Given the description of an element on the screen output the (x, y) to click on. 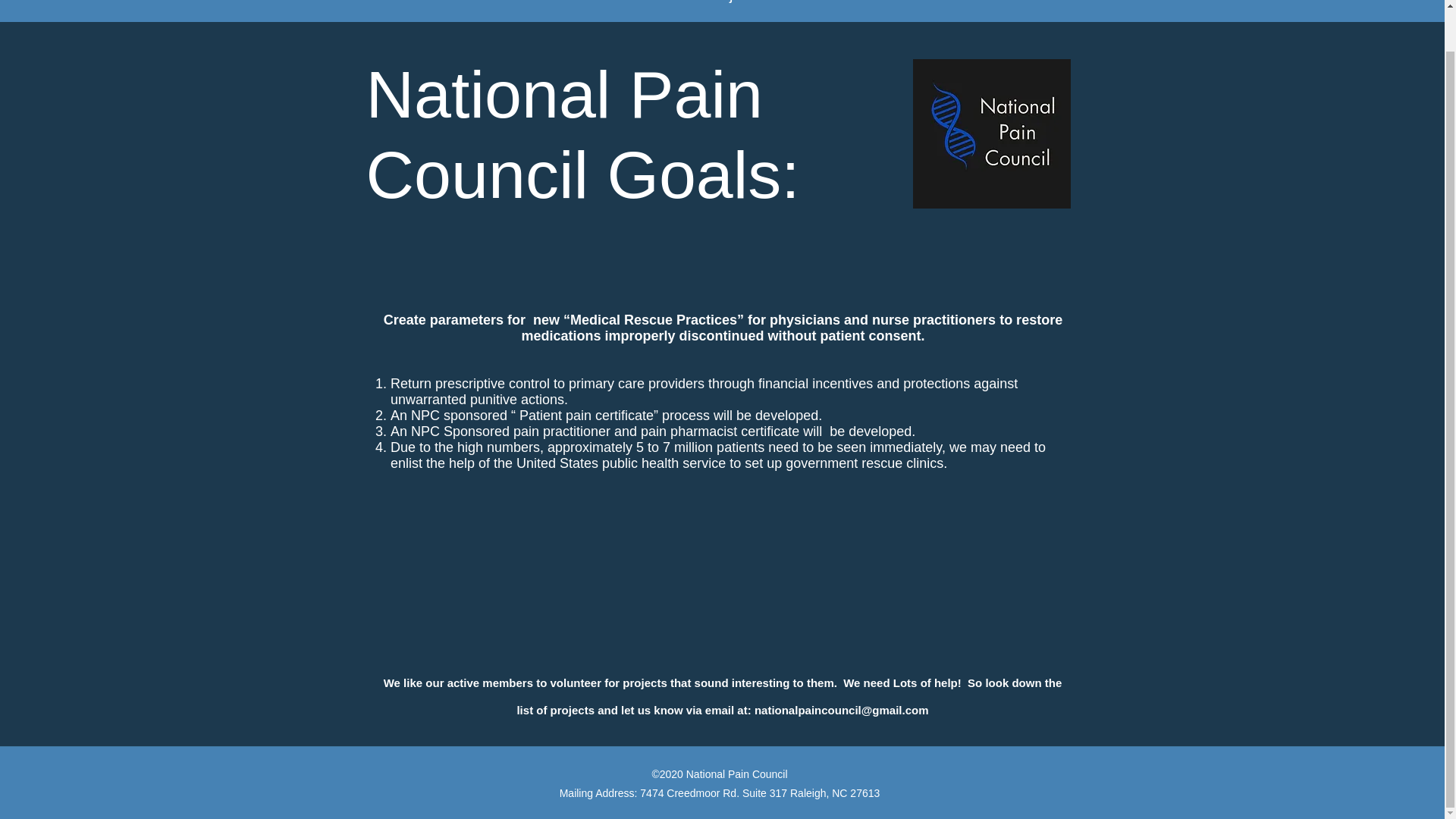
Projects (732, 2)
Memes (1060, 2)
Home (484, 2)
Publications (890, 2)
Donate (805, 2)
News (664, 2)
About (545, 2)
Goals (604, 2)
Affilliates (982, 2)
Contact (1131, 2)
